Given the description of an element on the screen output the (x, y) to click on. 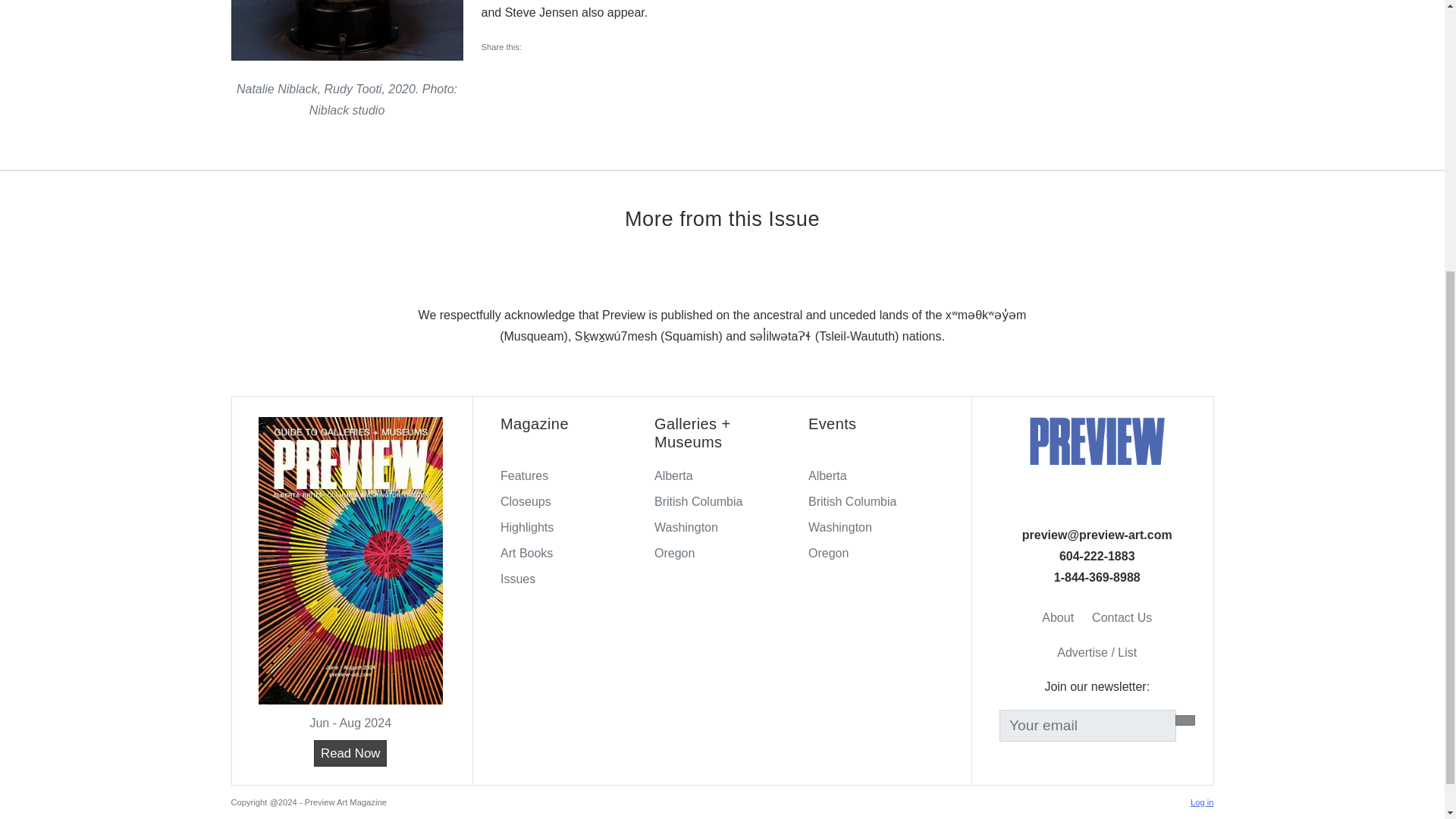
Preview Art Magazine Homepage (1097, 440)
Read Jun - Aug 2024 (350, 753)
